Given the description of an element on the screen output the (x, y) to click on. 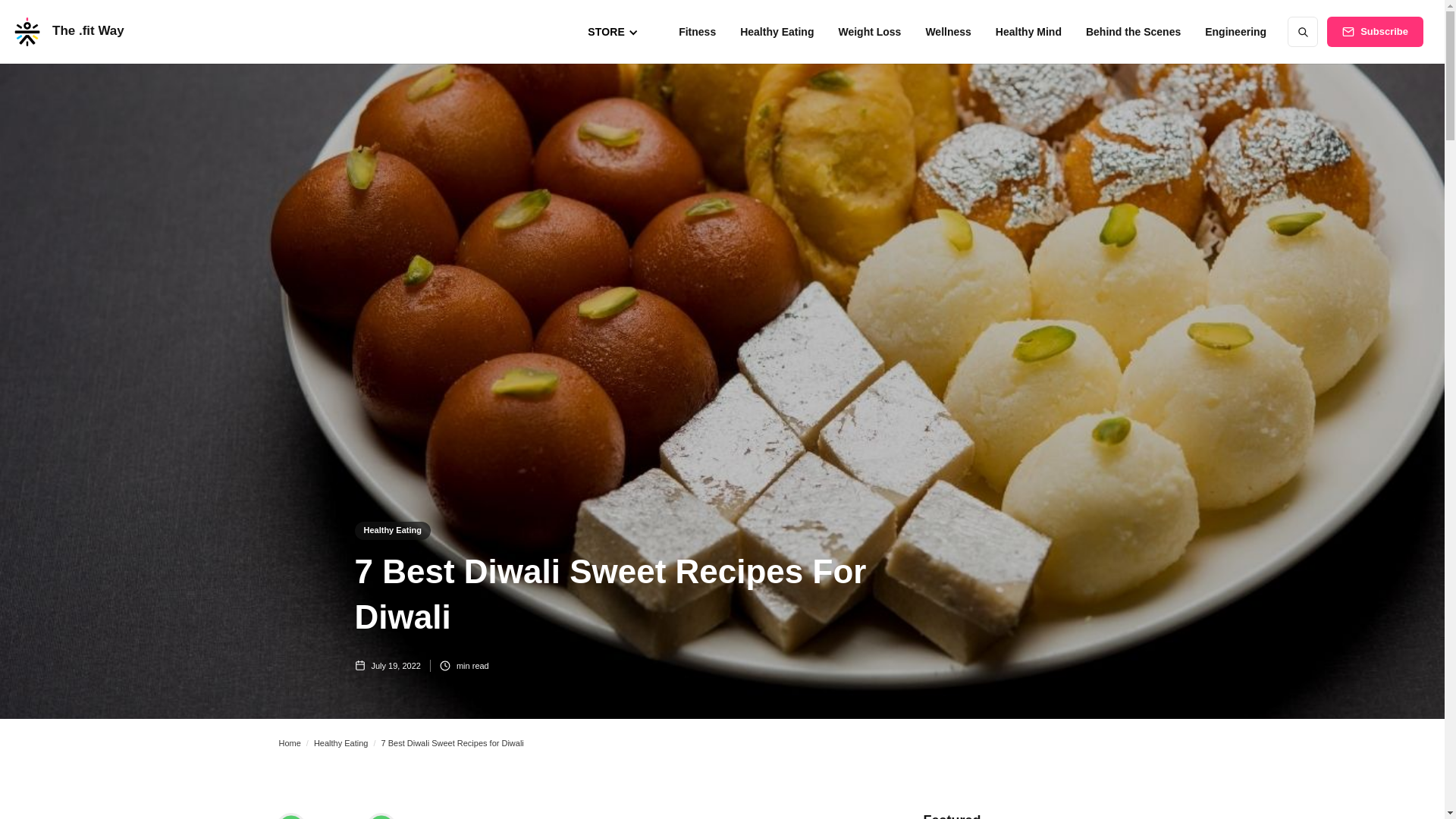
The .fit Way (68, 31)
Fitness (697, 31)
Healthy Mind (1029, 31)
Healthy Eating (776, 31)
Weight Loss (868, 31)
Wellness (947, 31)
Behind the Scenes (1133, 31)
